Given the description of an element on the screen output the (x, y) to click on. 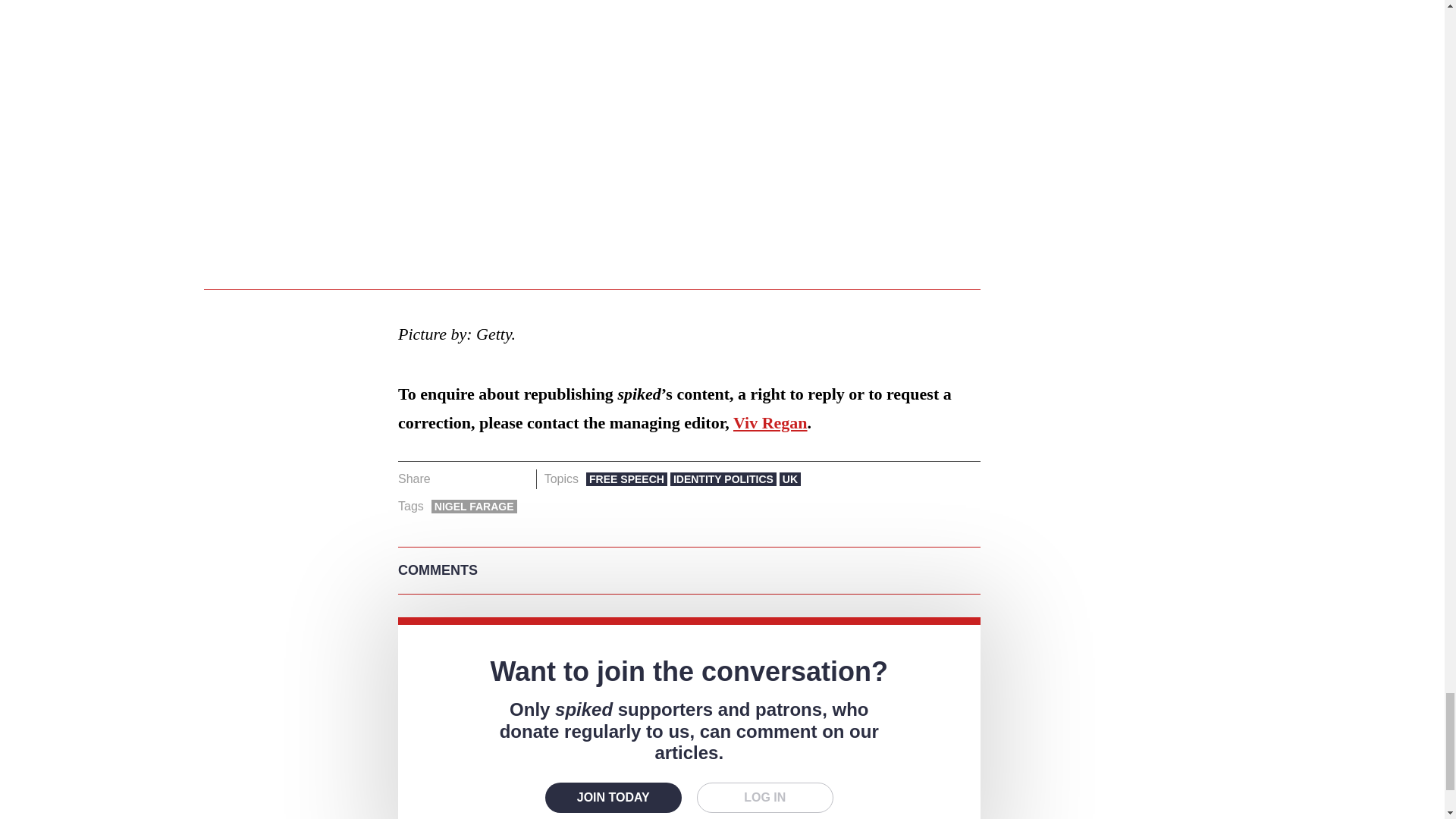
Share on Facebook (448, 478)
Share on Twitter (471, 478)
Share on Email (518, 478)
Share on Whatsapp (494, 478)
